Given the description of an element on the screen output the (x, y) to click on. 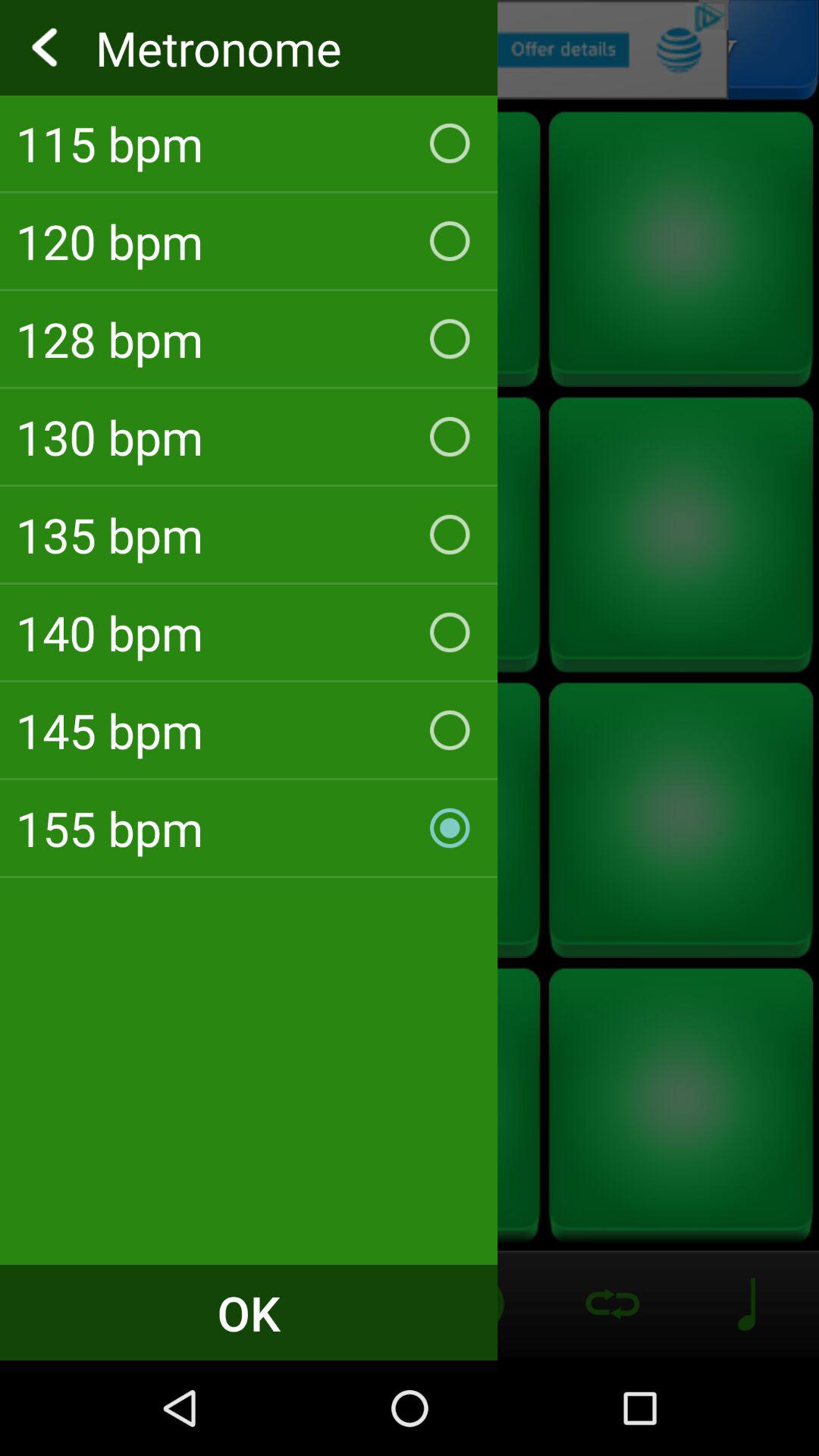
scroll to the 115 bpm checkbox (248, 143)
